Given the description of an element on the screen output the (x, y) to click on. 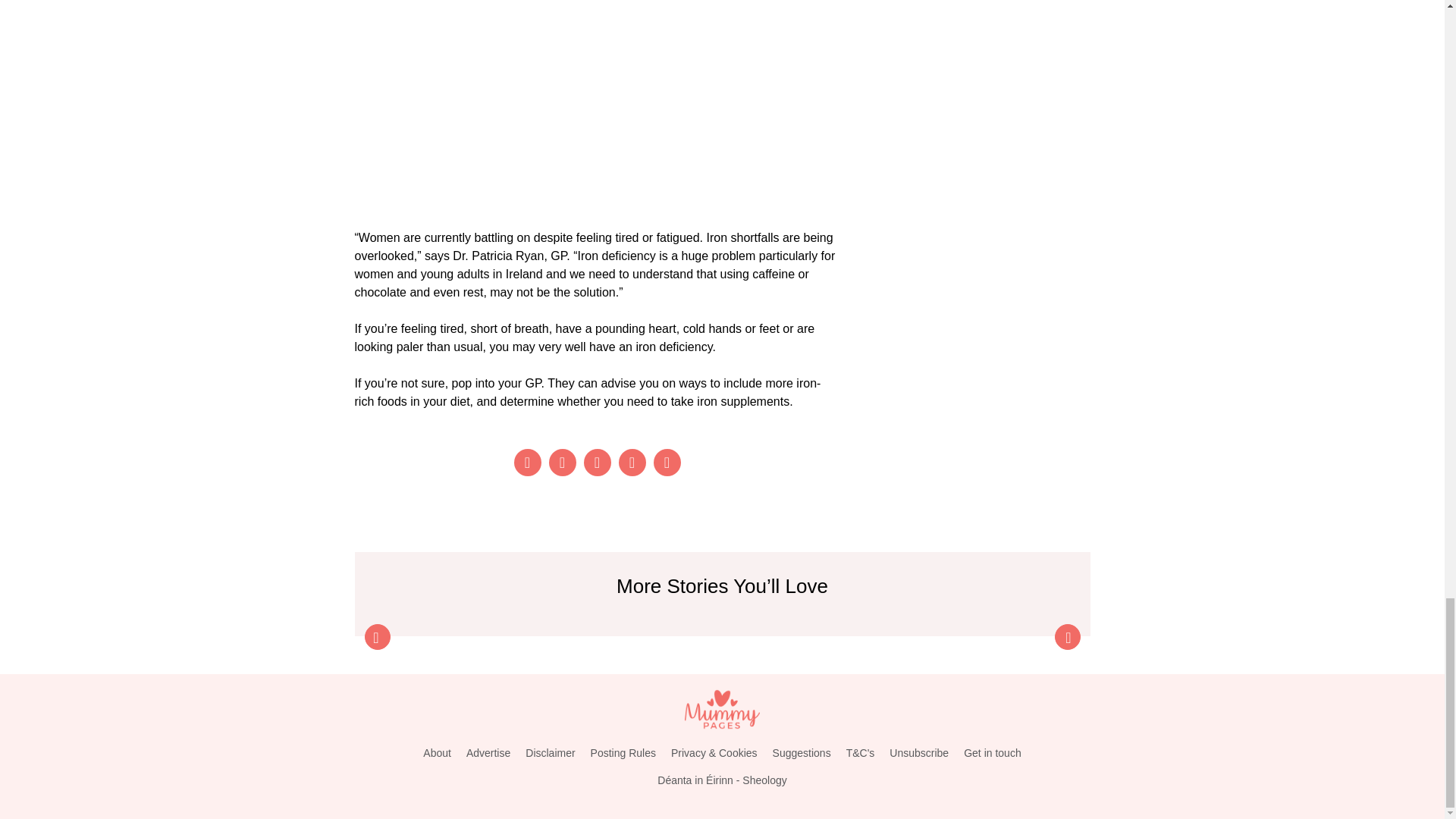
Advertise (488, 753)
About (436, 753)
Suggestions (801, 753)
Email (667, 461)
Unsubscribe (919, 753)
Get in touch (992, 753)
Sheology (764, 779)
Disclaimer (550, 753)
Posting Rules (623, 753)
